Given the description of an element on the screen output the (x, y) to click on. 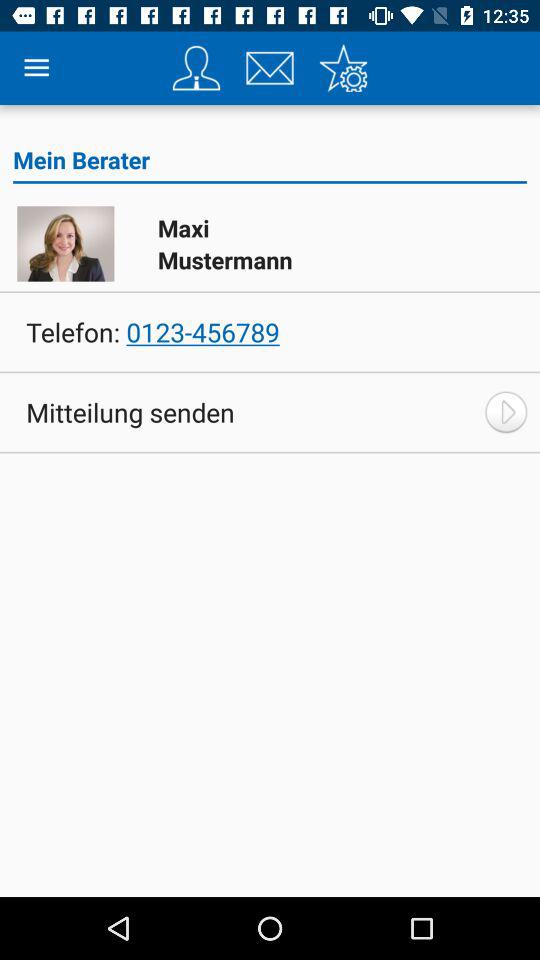
click the icon above the mein berater item (343, 67)
